Given the description of an element on the screen output the (x, y) to click on. 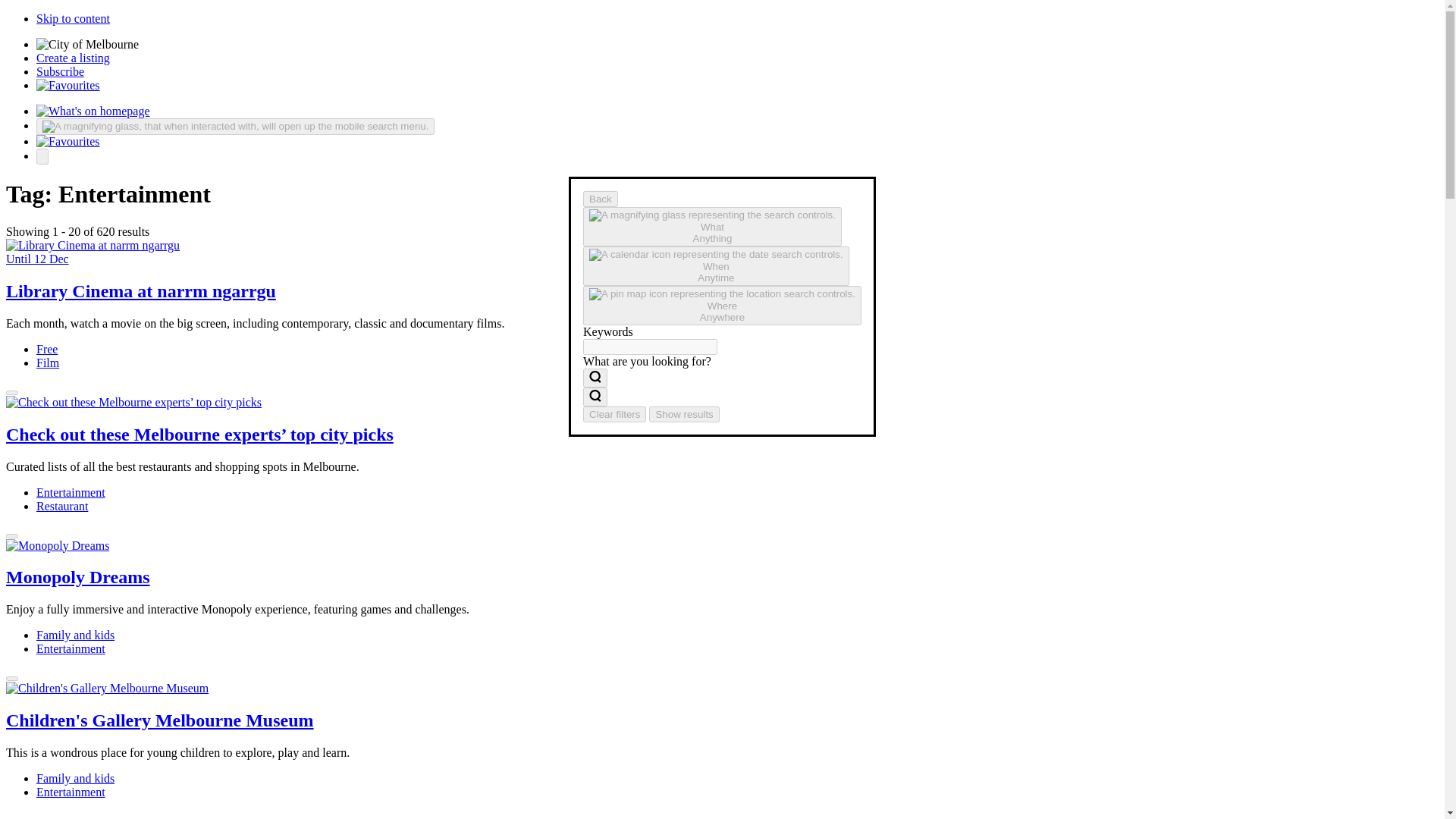
Clear filters (614, 414)
Restaurant (61, 504)
Film (47, 362)
Create a listing (722, 305)
Skip to content (73, 57)
Entertainment (73, 18)
Family and kids (70, 648)
Entertainment (75, 634)
Show results (70, 491)
